Given the description of an element on the screen output the (x, y) to click on. 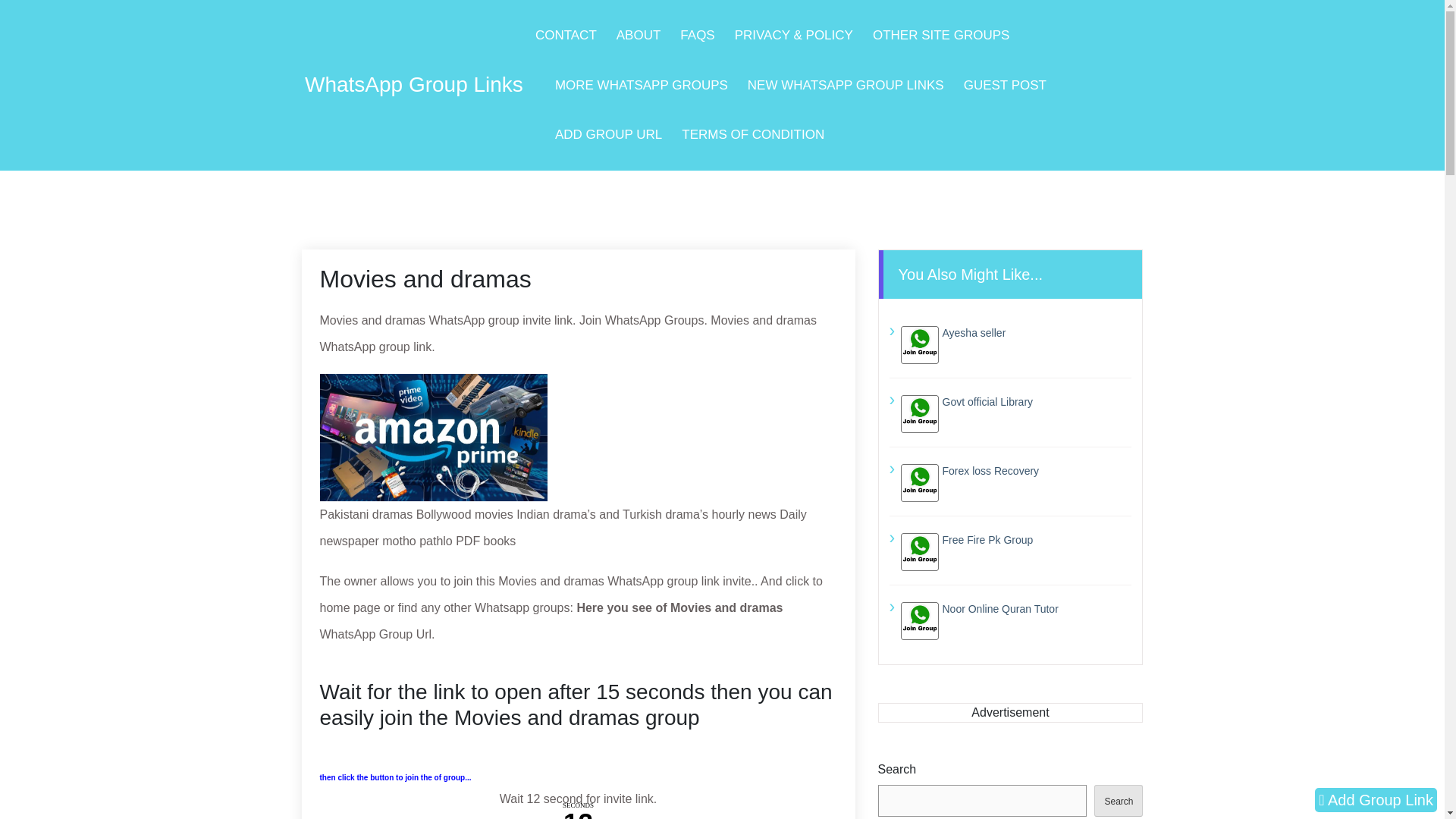
ABOUT (638, 35)
ADD GROUP URL (608, 134)
NEW WHATSAPP GROUP LINKS (845, 85)
WhatsApp Group Links (413, 84)
GUEST POST (1004, 85)
MORE WHATSAPP GROUPS (641, 85)
Govt official Library (1016, 401)
CONTACT (565, 35)
Ayesha seller (1016, 332)
Search (1118, 799)
